Given the description of an element on the screen output the (x, y) to click on. 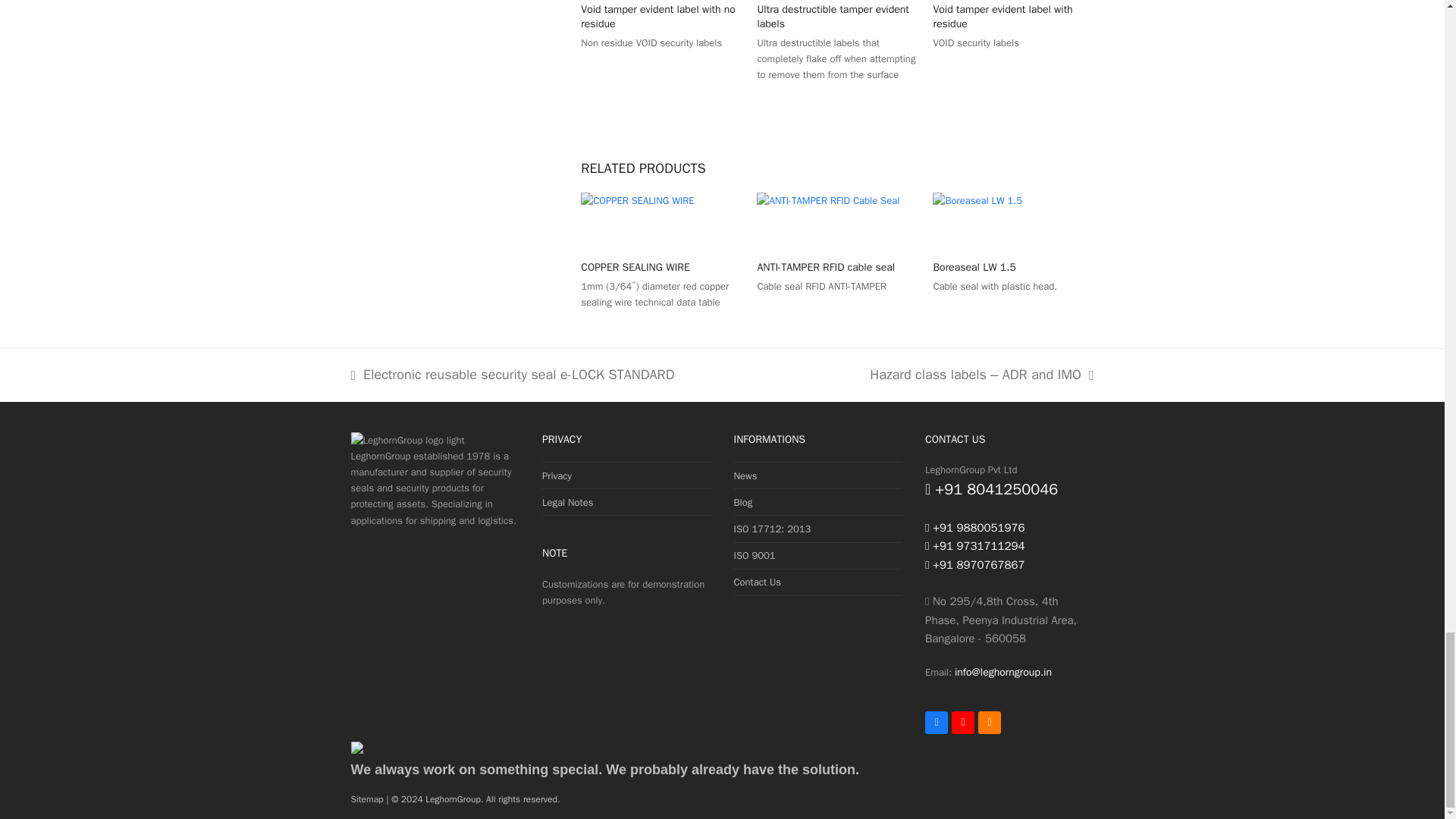
YouTube (963, 722)
Facebook (935, 722)
RSS (989, 722)
